Given the description of an element on the screen output the (x, y) to click on. 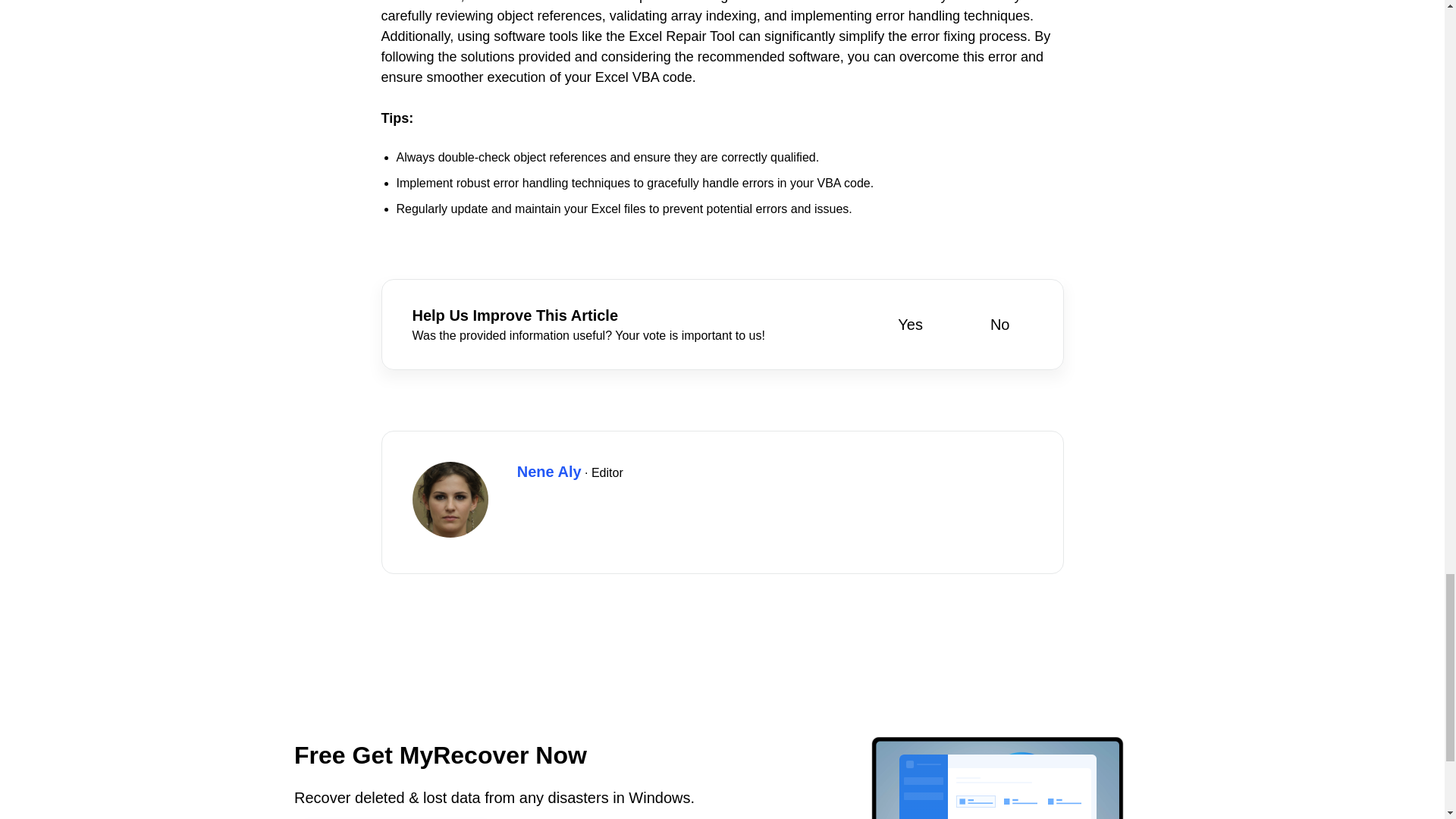
Yes (899, 323)
No (989, 323)
Nene Aly (548, 471)
